Given the description of an element on the screen output the (x, y) to click on. 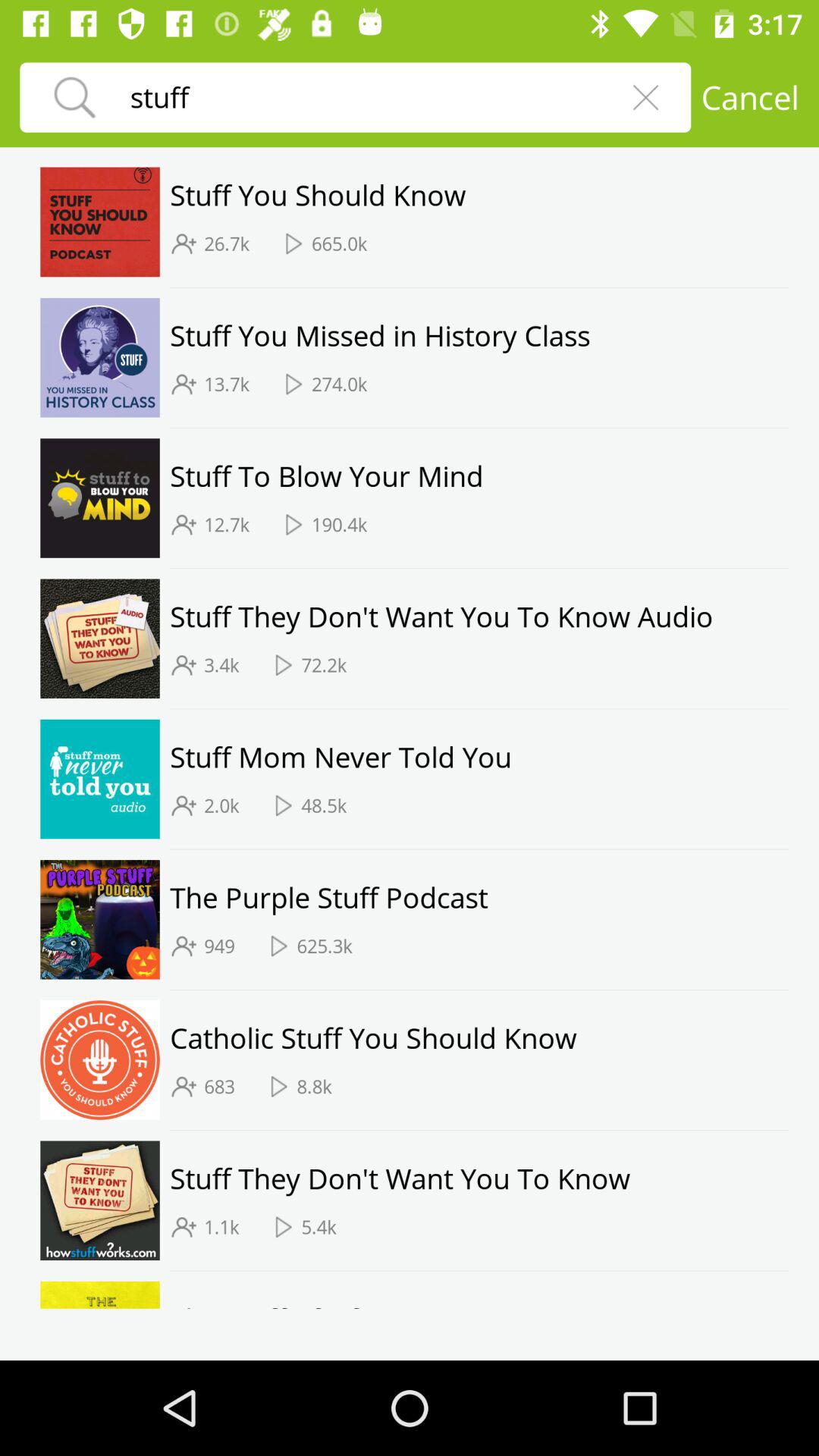
turn on item above the catholic stuff you item (478, 989)
